Given the description of an element on the screen output the (x, y) to click on. 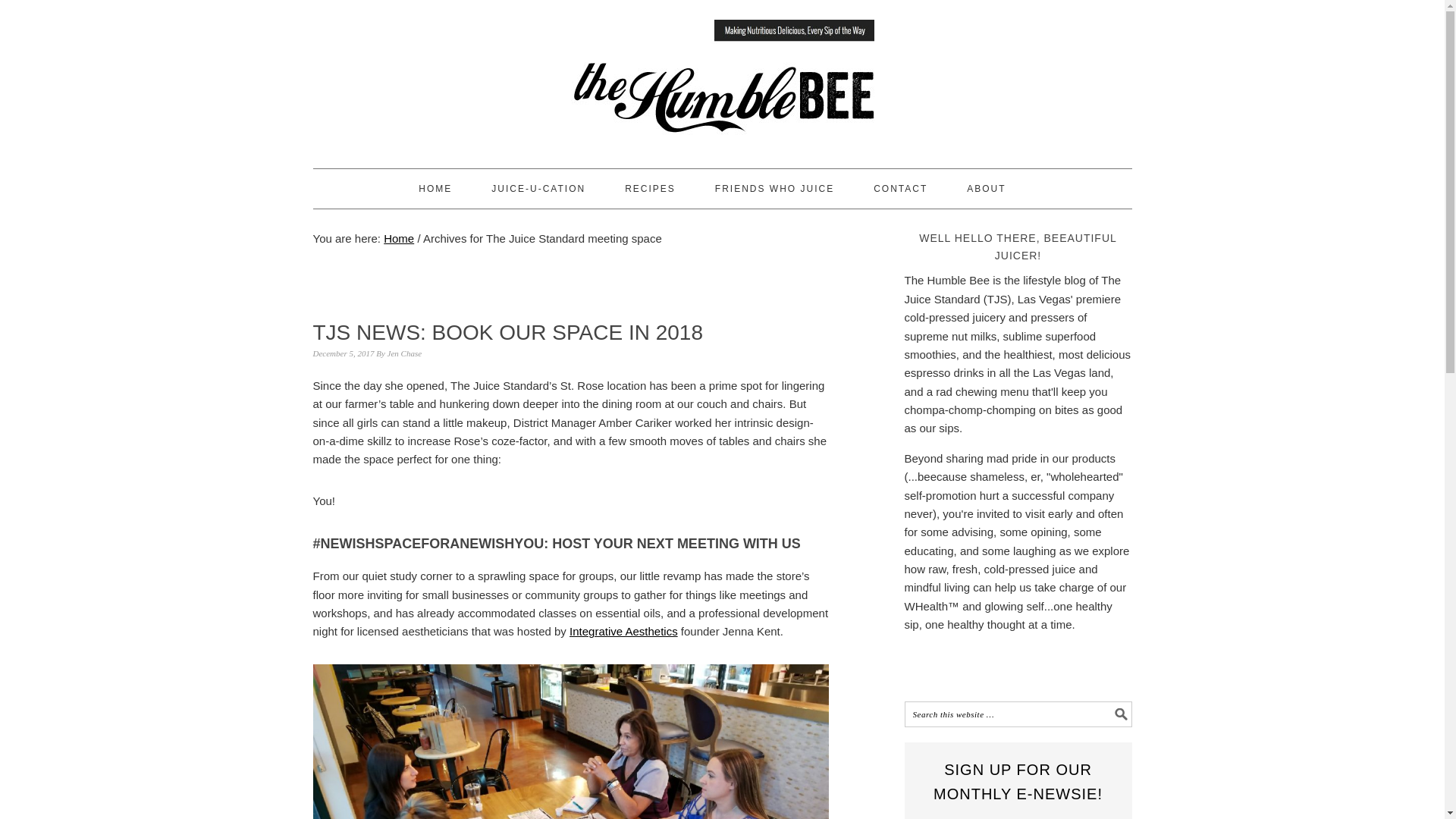
ABOUT (986, 188)
Home (398, 237)
HOME (434, 188)
RECIPES (649, 188)
Integrative Aesthetics (623, 631)
THE HUMBLE BEE (722, 77)
Jen Chase (404, 352)
FRIENDS WHO JUICE (774, 188)
TJS NEWS: BOOK OUR SPACE IN 2018 (508, 332)
CONTACT (900, 188)
JUICE-U-CATION (537, 188)
